Given the description of an element on the screen output the (x, y) to click on. 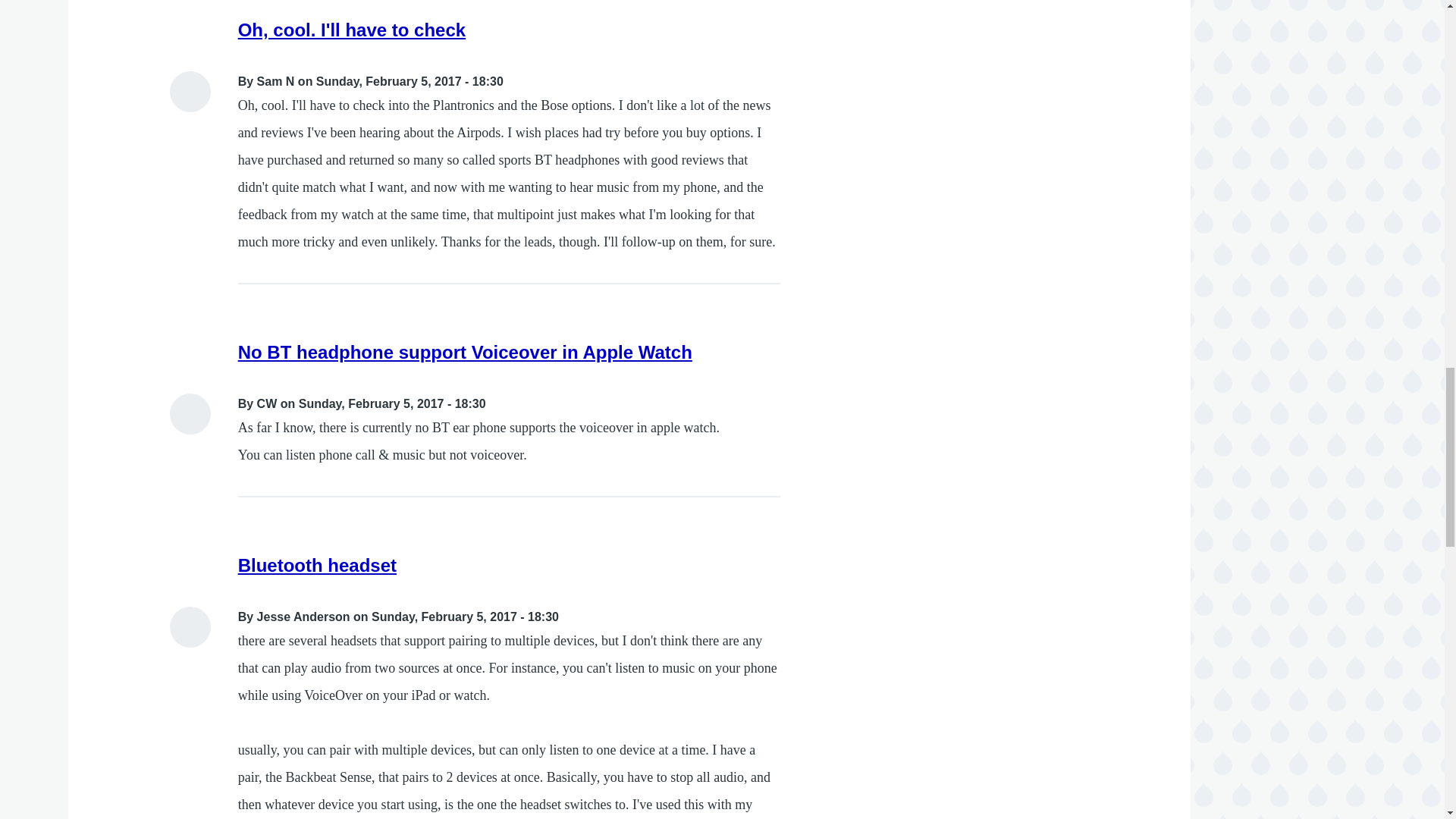
Oh, cool. I'll have to check (351, 29)
No BT headphone support Voiceover in Apple Watch (465, 352)
Bluetooth headset (317, 565)
